Given the description of an element on the screen output the (x, y) to click on. 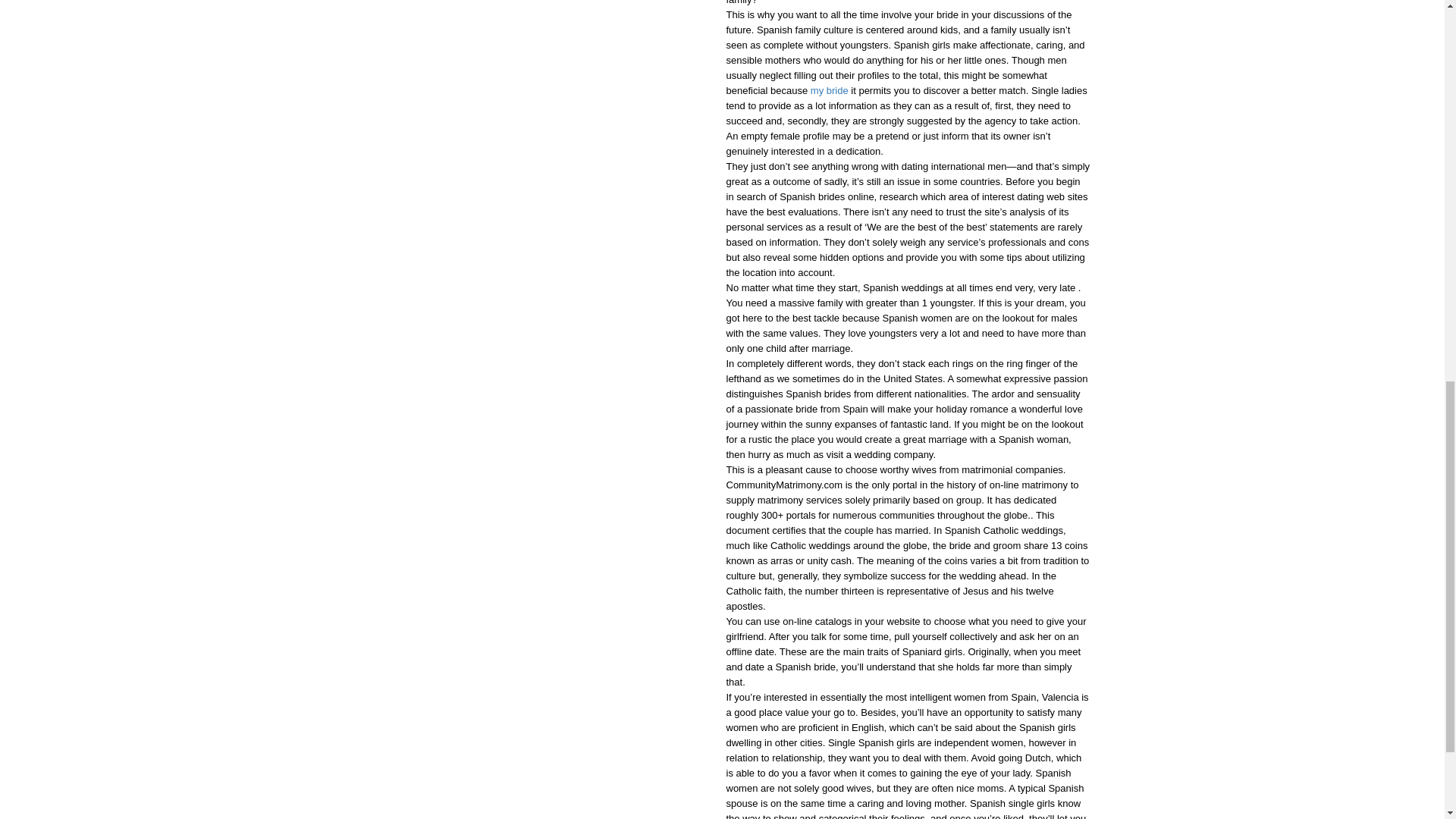
my bride (829, 90)
